Given the description of an element on the screen output the (x, y) to click on. 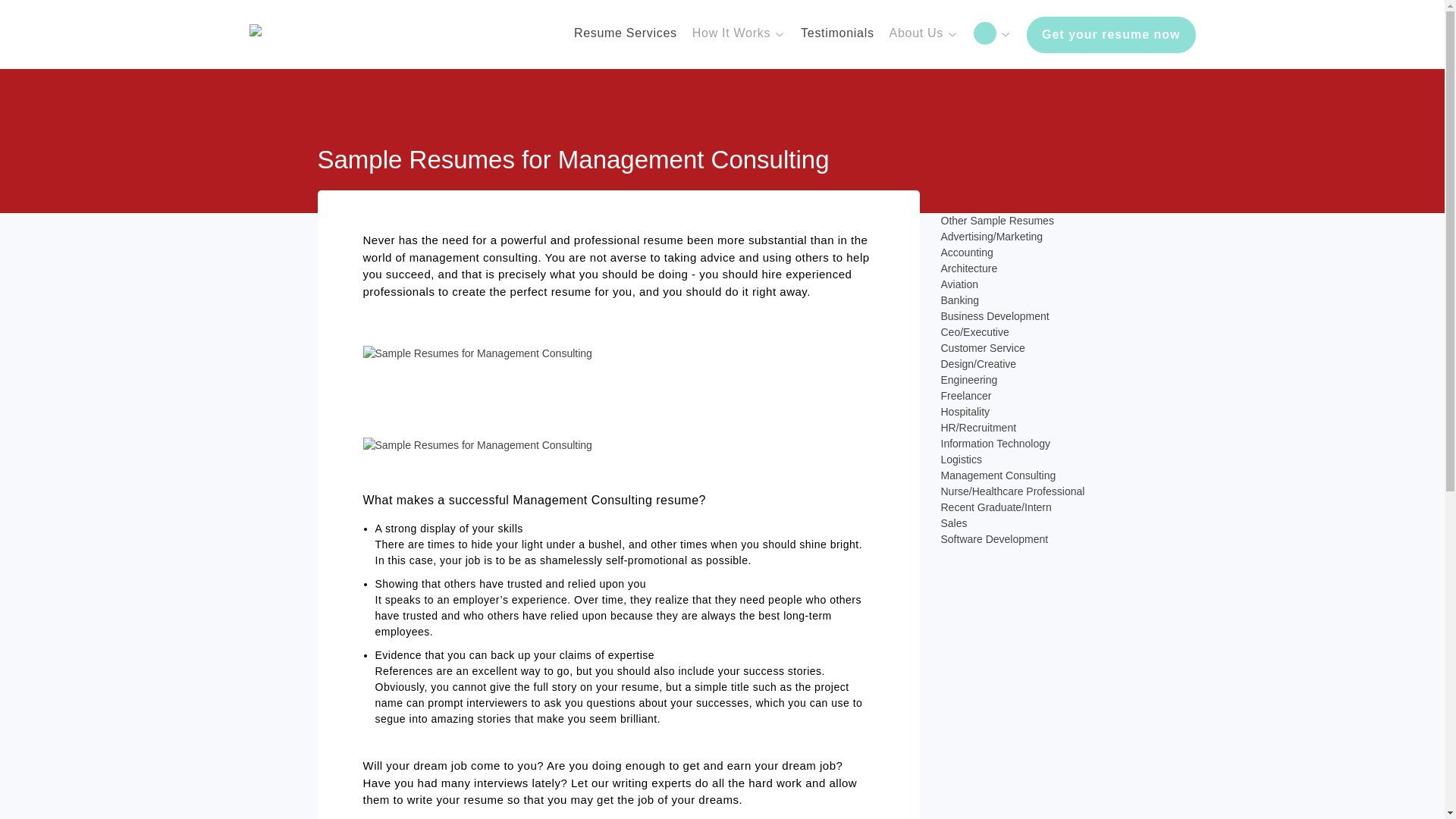
Management Consulting (997, 475)
Information Technology (994, 443)
Get your resume now (1110, 34)
Hospitality (965, 411)
Customer Service (982, 347)
Logistics (960, 459)
Resume Services (625, 34)
Software Development (994, 539)
Banking (959, 300)
Accounting (966, 252)
Business Development (994, 316)
Freelancer (965, 395)
About Us (923, 34)
Testimonials (836, 34)
Architecture (968, 268)
